Given the description of an element on the screen output the (x, y) to click on. 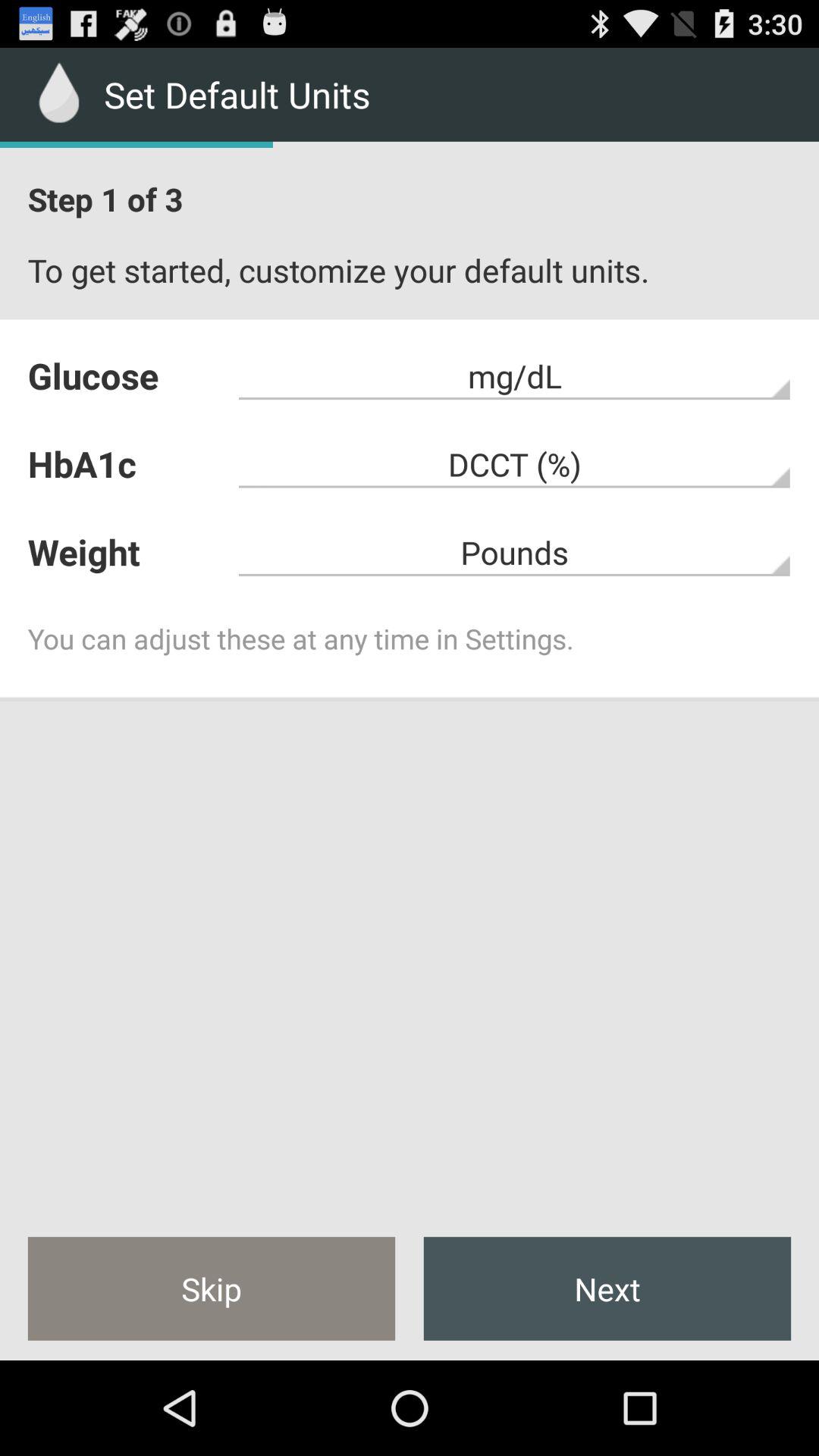
click pounds (514, 552)
